Given the description of an element on the screen output the (x, y) to click on. 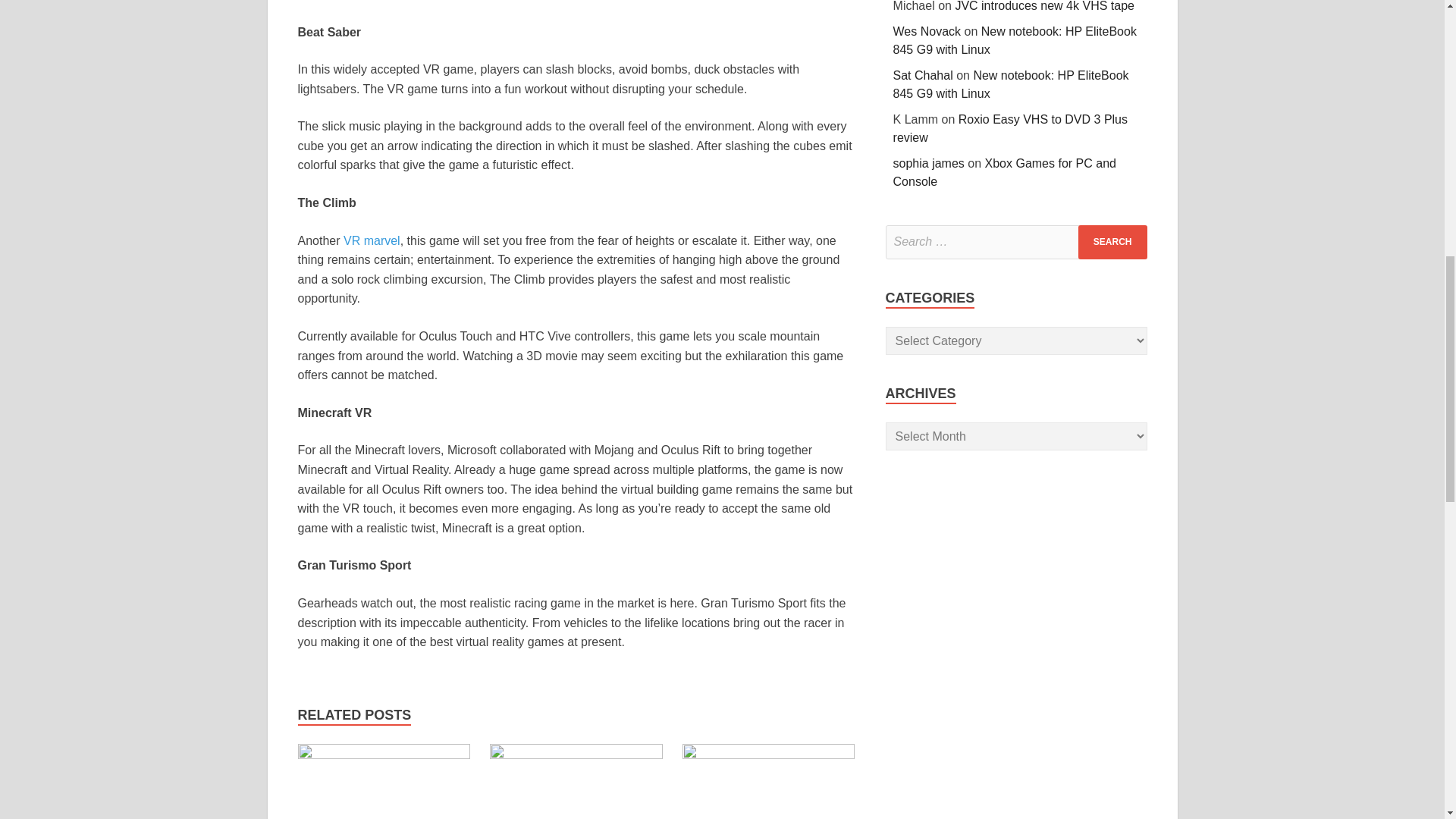
JVC introduces new 4k VHS tape (1044, 6)
Search (1112, 242)
New notebook: HP EliteBook 845 G9 with Linux (1011, 83)
New notebook: HP EliteBook 845 G9 with Linux (1015, 40)
VR marvel (371, 240)
Xbox Games for PC and Console (383, 754)
Wes Novack (926, 31)
Sat Chahal (923, 74)
Search (1112, 242)
Trying To Get Better At Mobile Gaming? Here Are Some Tips (769, 754)
